Given the description of an element on the screen output the (x, y) to click on. 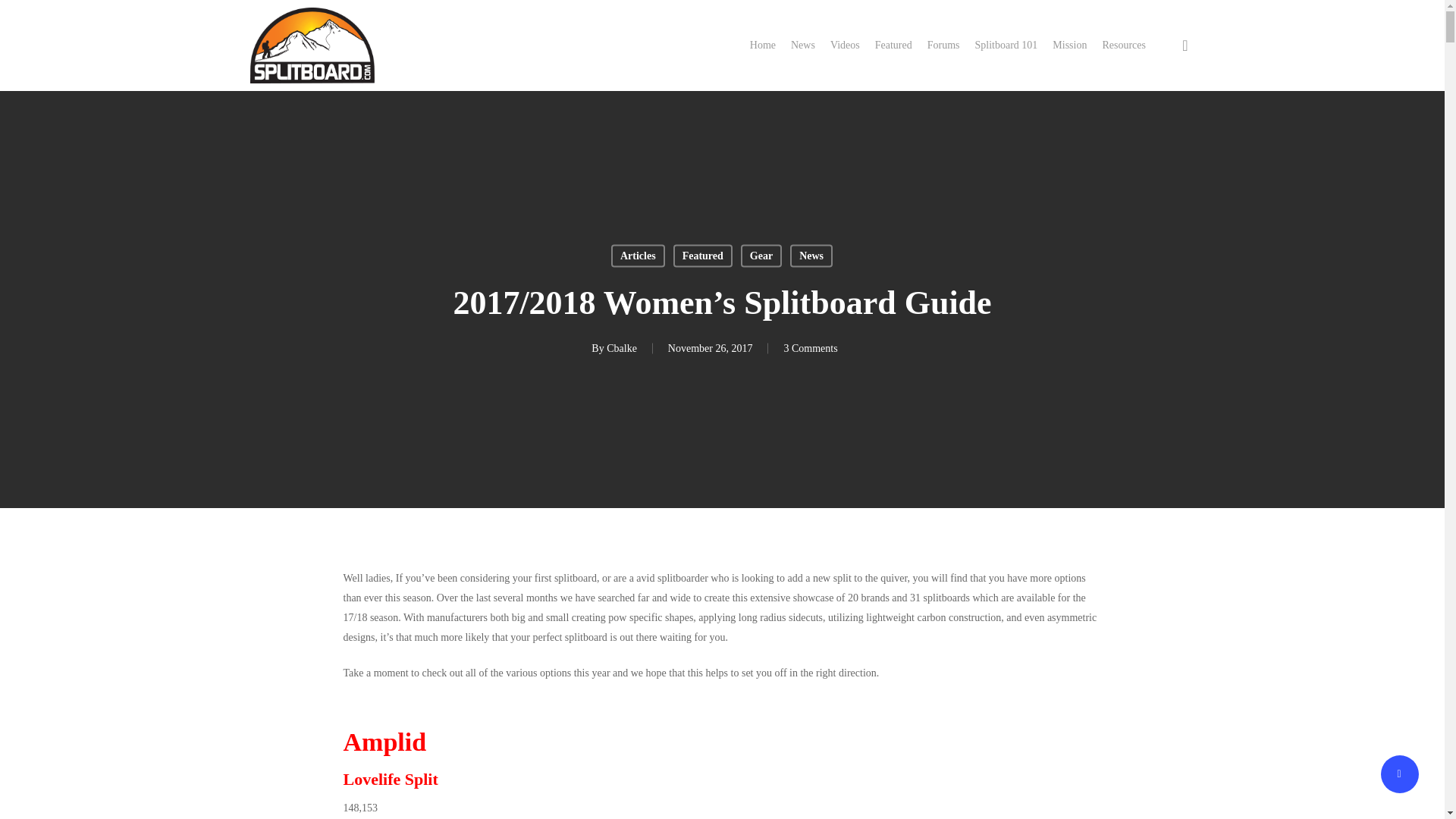
News (811, 255)
Gear (761, 255)
Videos (844, 45)
Featured (893, 45)
Posts by Cbalke (622, 348)
Articles (638, 255)
Cbalke (622, 348)
3 Comments (810, 348)
Mission (1069, 45)
Forums (943, 45)
